Given the description of an element on the screen output the (x, y) to click on. 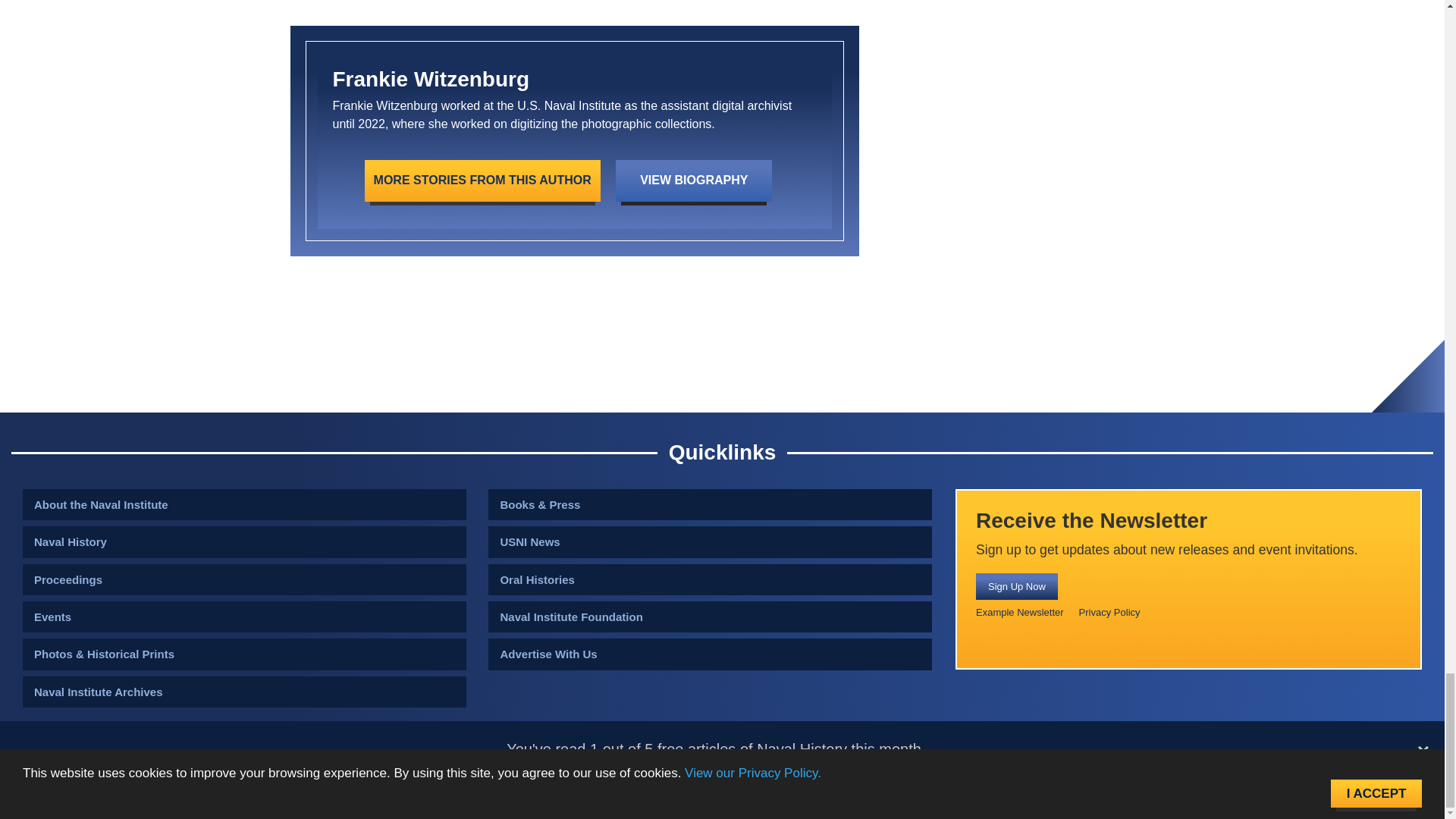
Advertise With Us (709, 653)
3rd party ad content (721, 358)
